Given the description of an element on the screen output the (x, y) to click on. 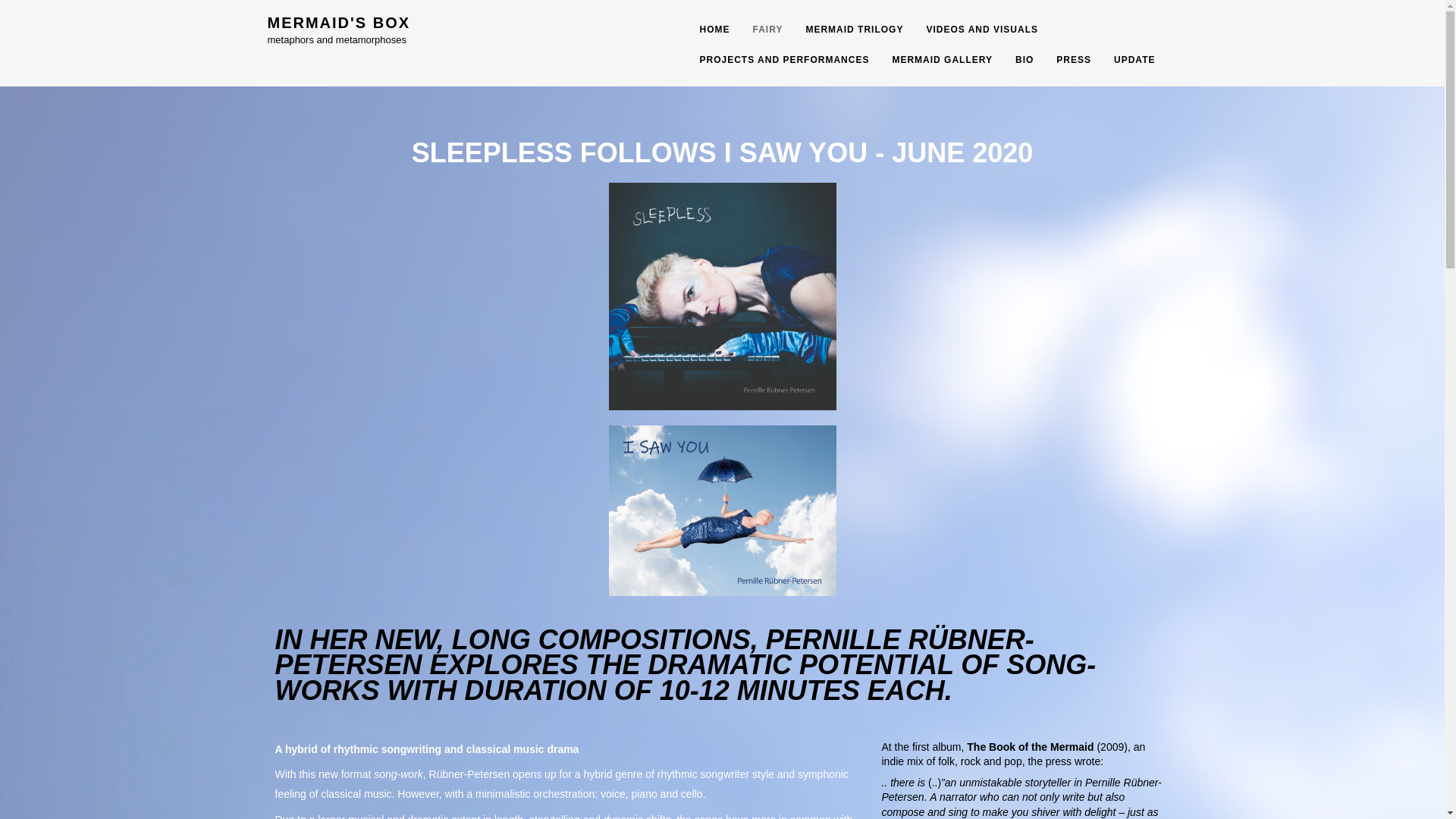
FAIRY (756, 30)
BIO (1012, 60)
PRESS (1061, 60)
MERMAID GALLERY (930, 60)
PROJECTS AND PERFORMANCES (773, 60)
VIDEOS AND VISUALS (970, 30)
MERMAID TRILOGY (842, 30)
HOME (703, 30)
UPDATE (1122, 60)
